Given the description of an element on the screen output the (x, y) to click on. 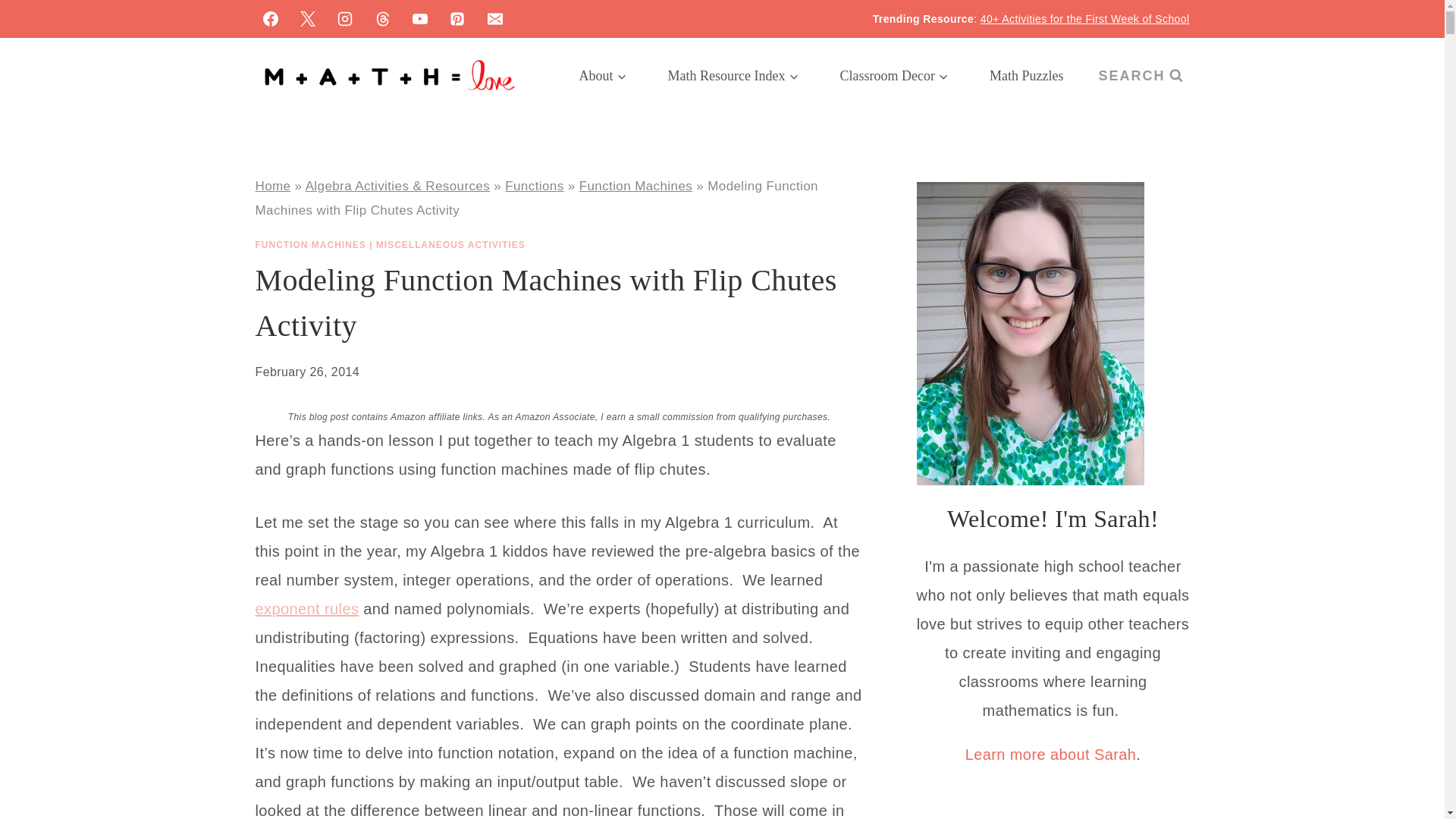
Functions (534, 186)
Math Puzzles (1026, 75)
MISCELLANEOUS ACTIVITIES (450, 244)
Classroom Decor (894, 75)
Home (271, 186)
Math Resource Index (733, 75)
Function Machines (636, 186)
About (603, 75)
SEARCH (1139, 76)
FUNCTION MACHINES (309, 244)
